Given the description of an element on the screen output the (x, y) to click on. 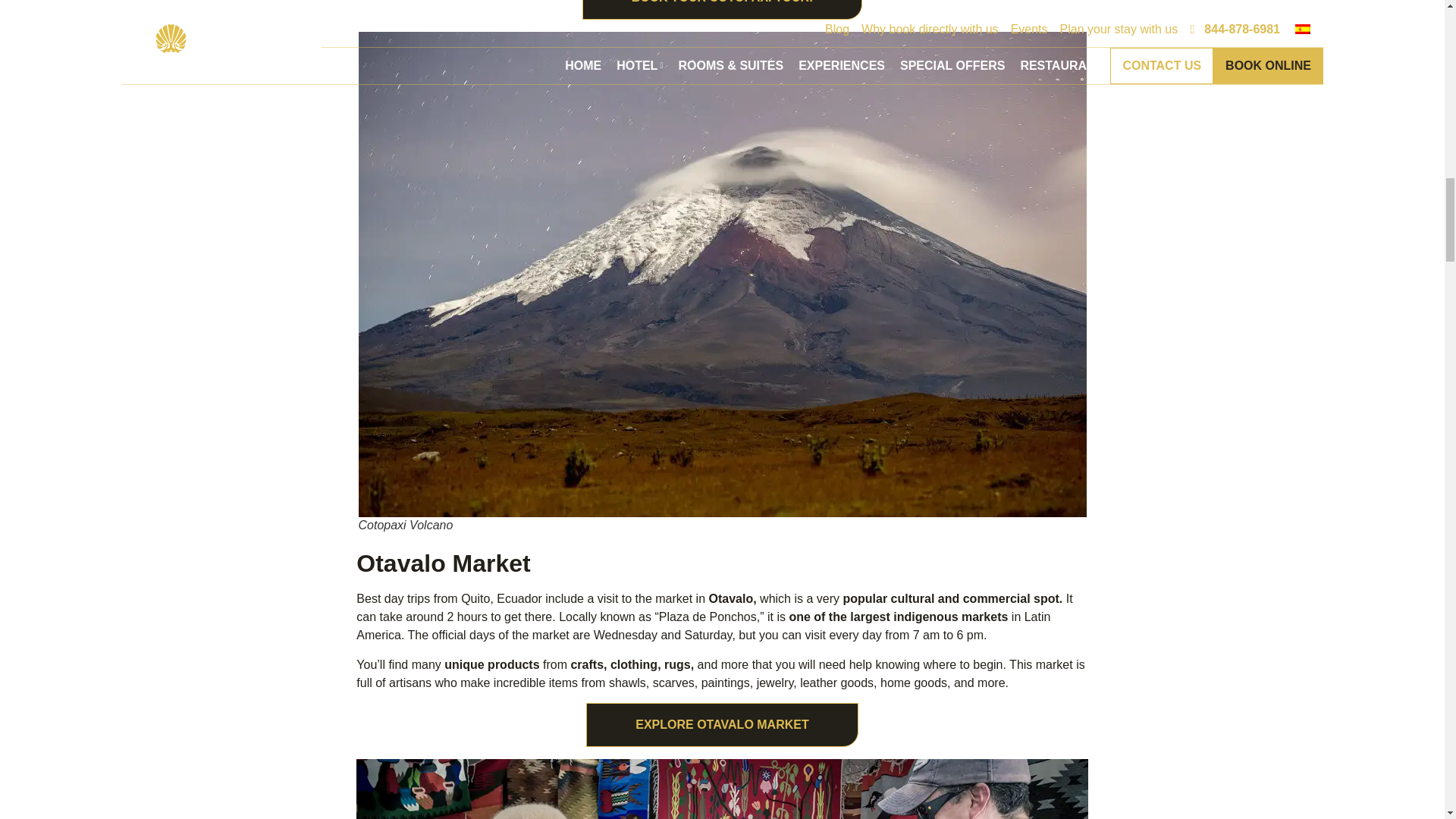
Book your Cotopaxi Tour! (722, 2)
Otavalo Market (721, 789)
Explore Otavalo (721, 724)
